Given the description of an element on the screen output the (x, y) to click on. 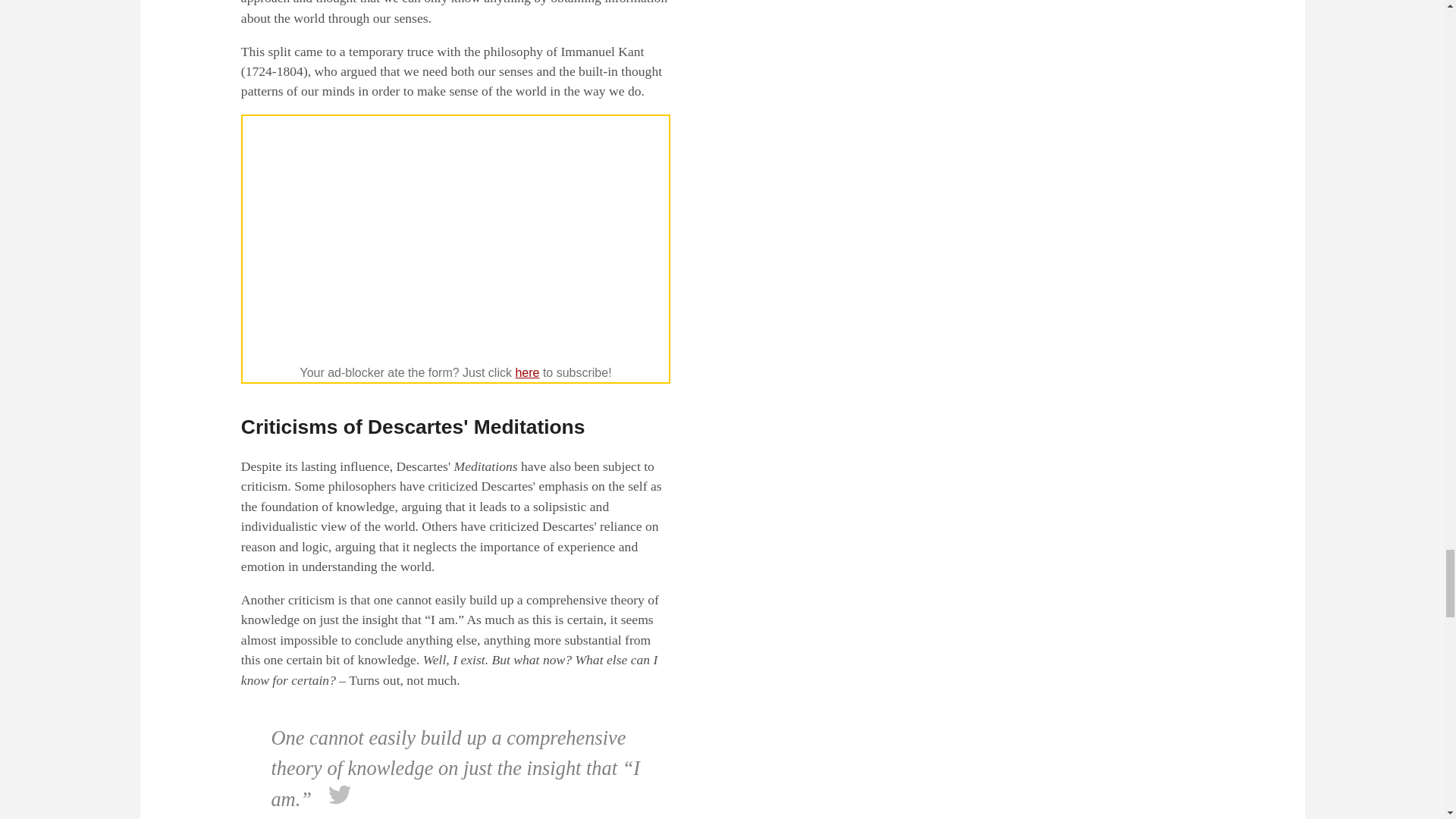
here (526, 372)
